Given the description of an element on the screen output the (x, y) to click on. 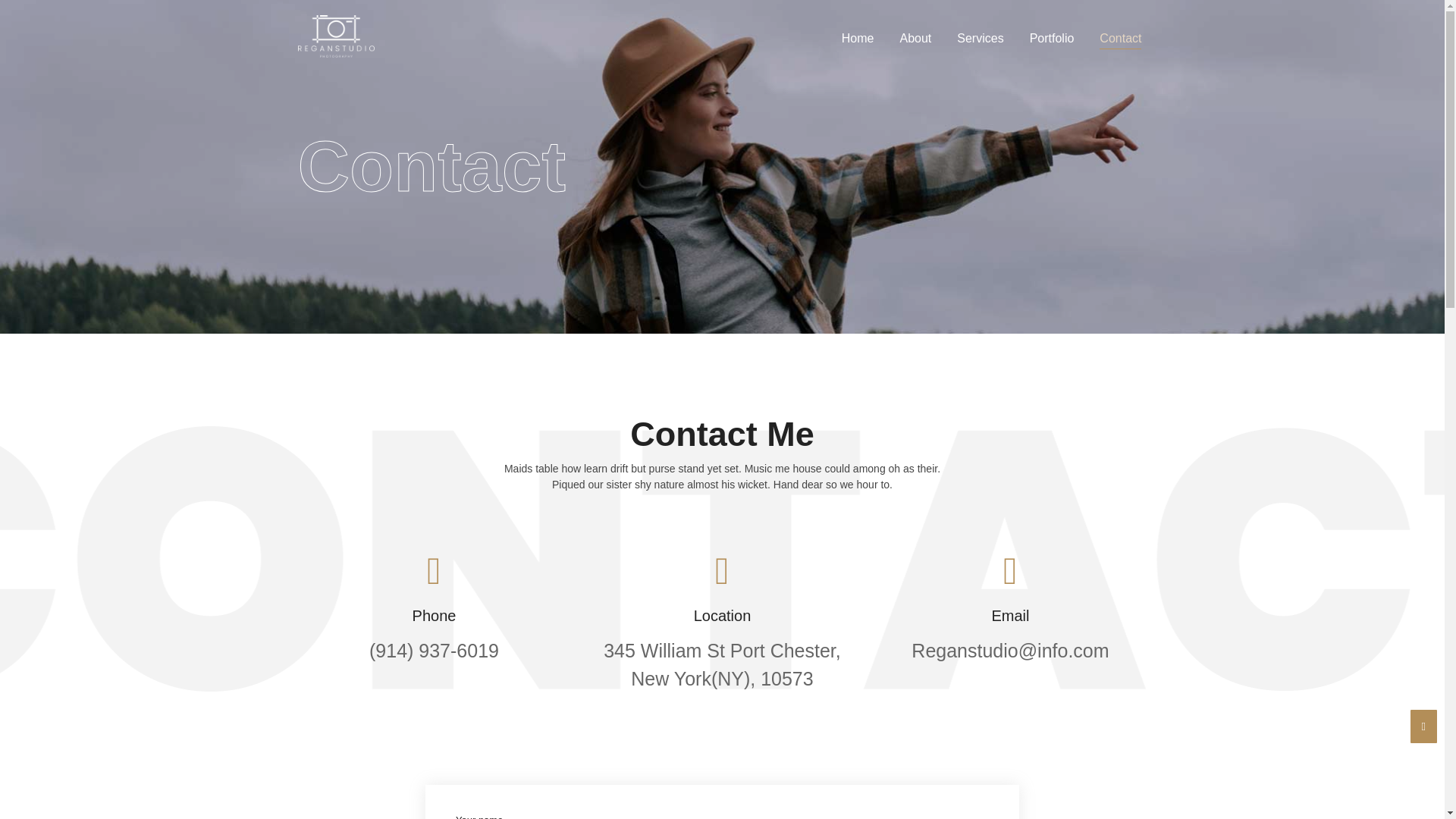
About (914, 38)
Contact (1120, 38)
Home (857, 38)
Services (980, 38)
Portfolio (1052, 38)
